Given the description of an element on the screen output the (x, y) to click on. 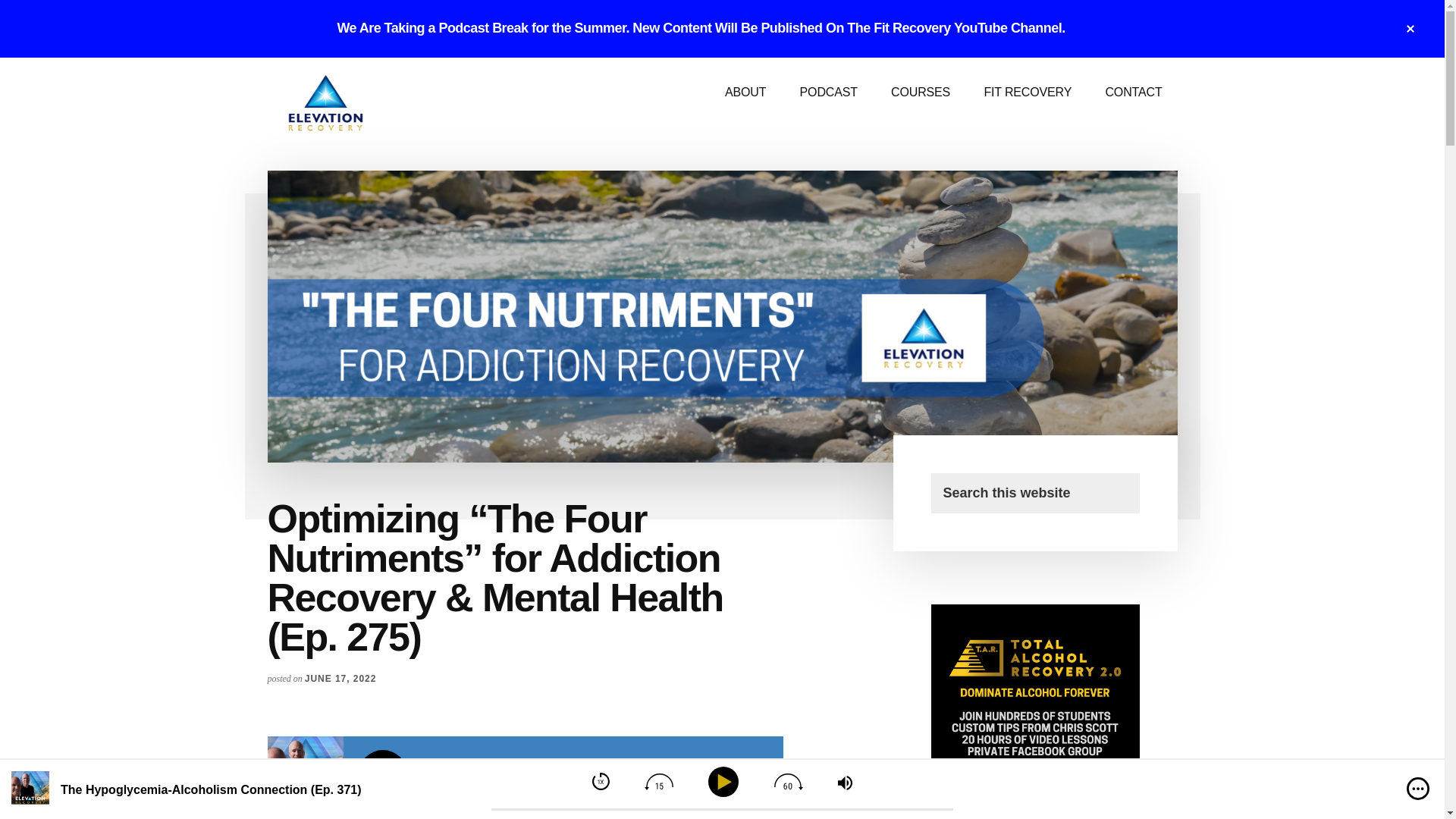
Speed: Normal (601, 781)
Download (726, 777)
Back 15 seconds (658, 781)
Download (724, 776)
More (1417, 788)
CONTACT (1132, 92)
FIT RECOVERY (1027, 92)
Forward 60 seconds (788, 781)
